Given the description of an element on the screen output the (x, y) to click on. 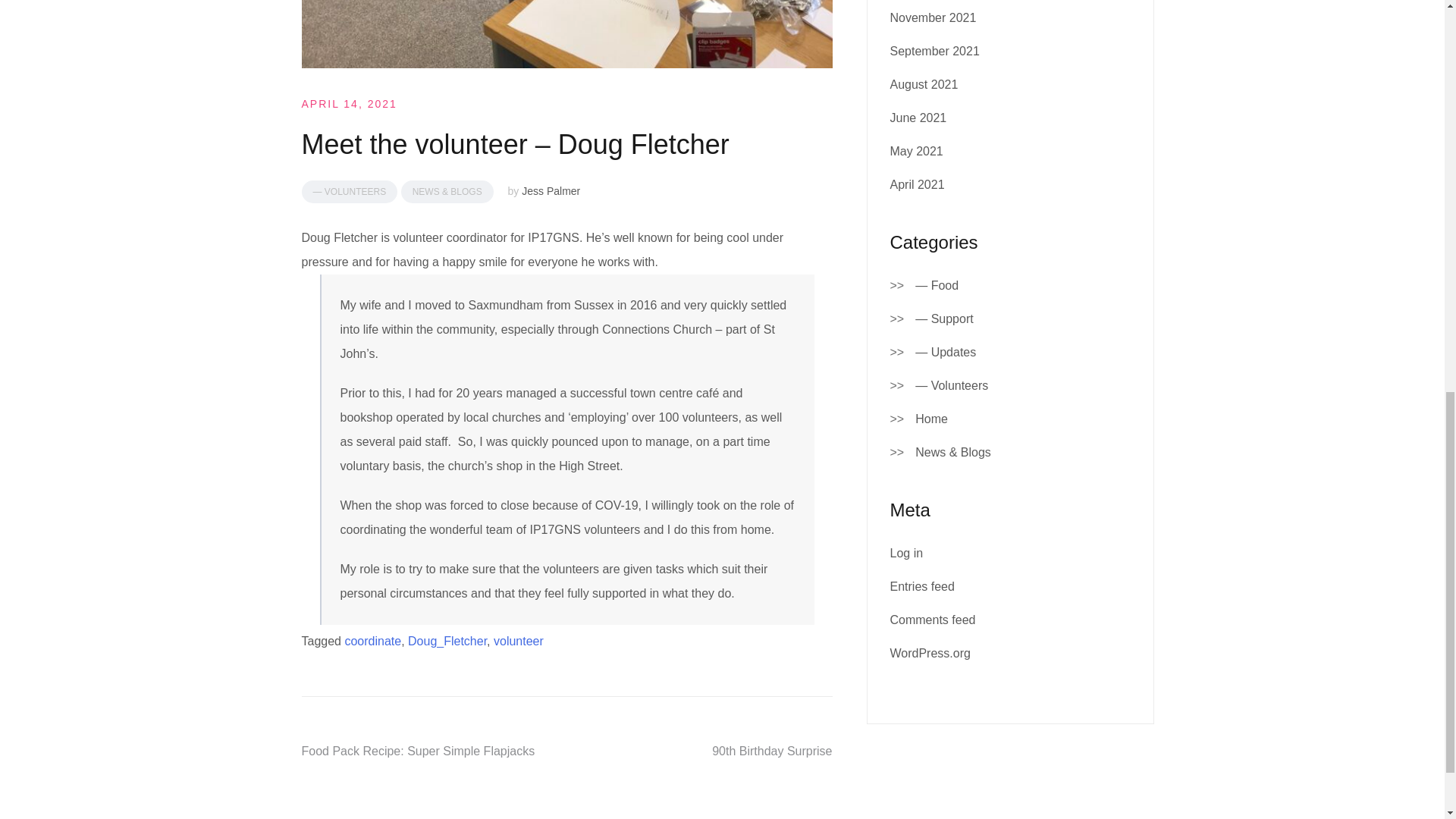
Food Pack Recipe: Super Simple Flapjacks (418, 750)
September 2021 (934, 51)
90th Birthday Surprise (771, 750)
April 2021 (916, 184)
APRIL 14, 2021 (349, 103)
August 2021 (923, 83)
November 2021 (932, 17)
Jess Palmer (550, 191)
Entries feed (922, 585)
May 2021 (916, 151)
